Given the description of an element on the screen output the (x, y) to click on. 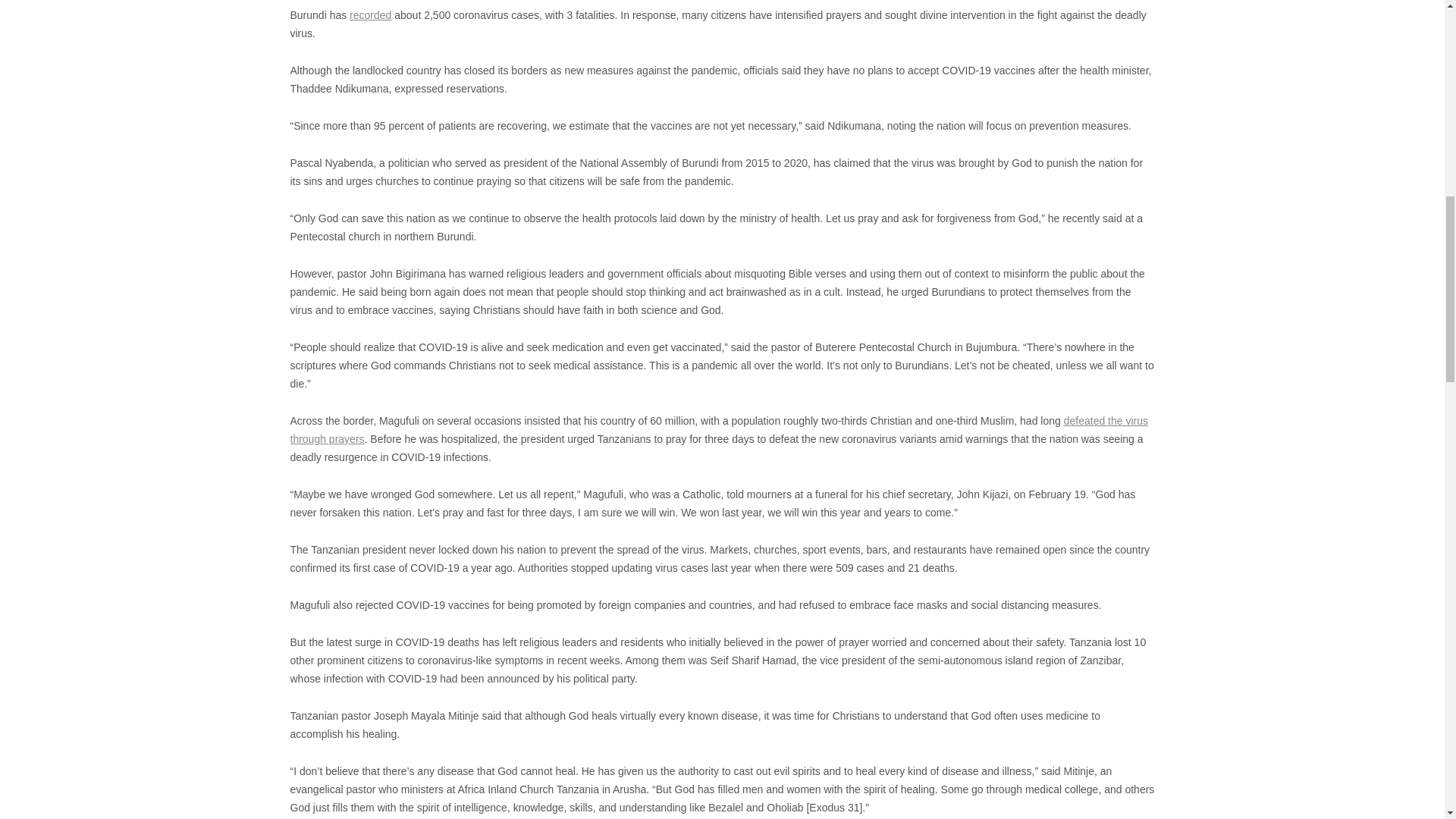
defeated the virus through prayers (718, 429)
recorded (370, 15)
